Given the description of an element on the screen output the (x, y) to click on. 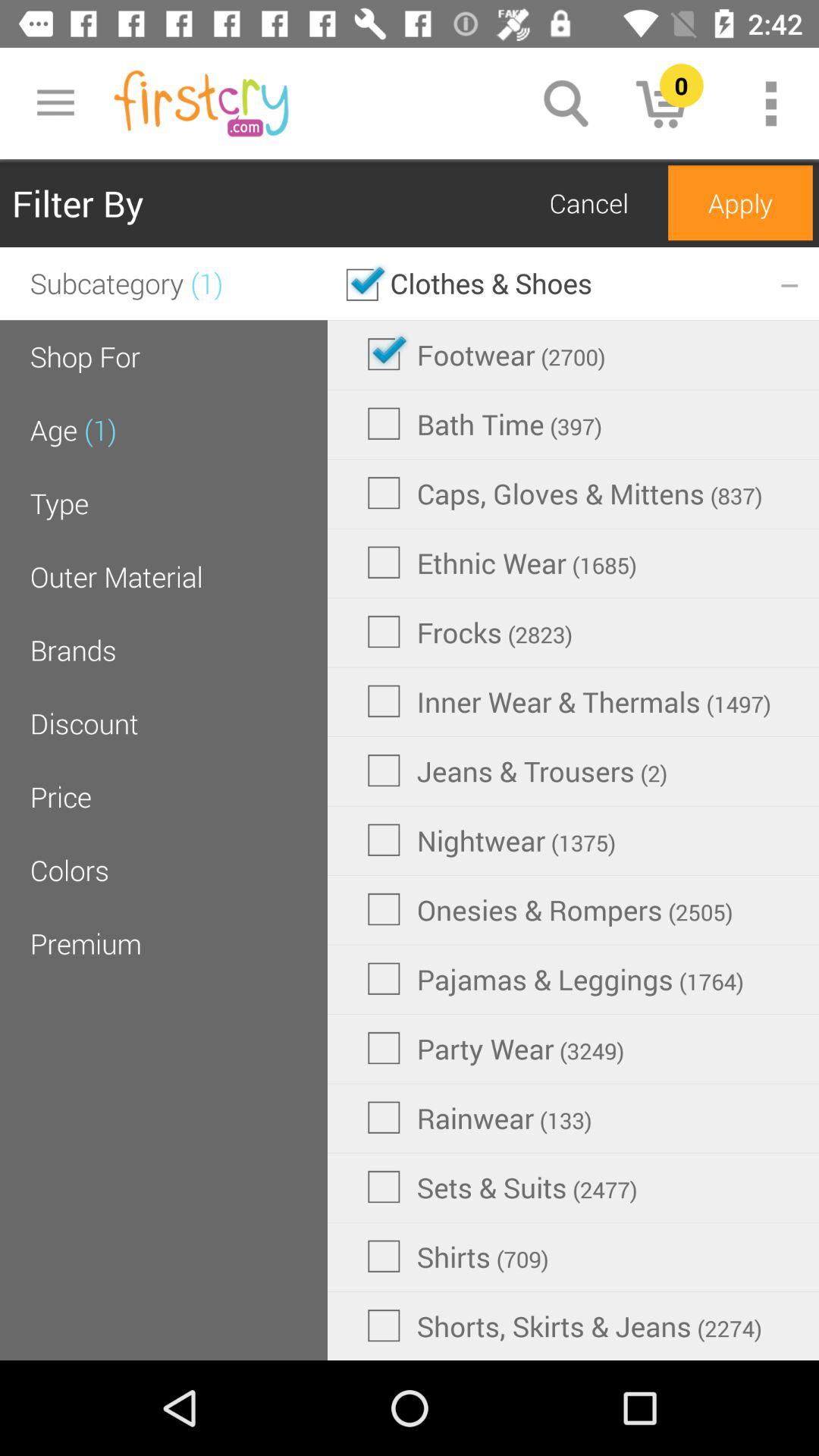
scroll to cancel icon (588, 202)
